Given the description of an element on the screen output the (x, y) to click on. 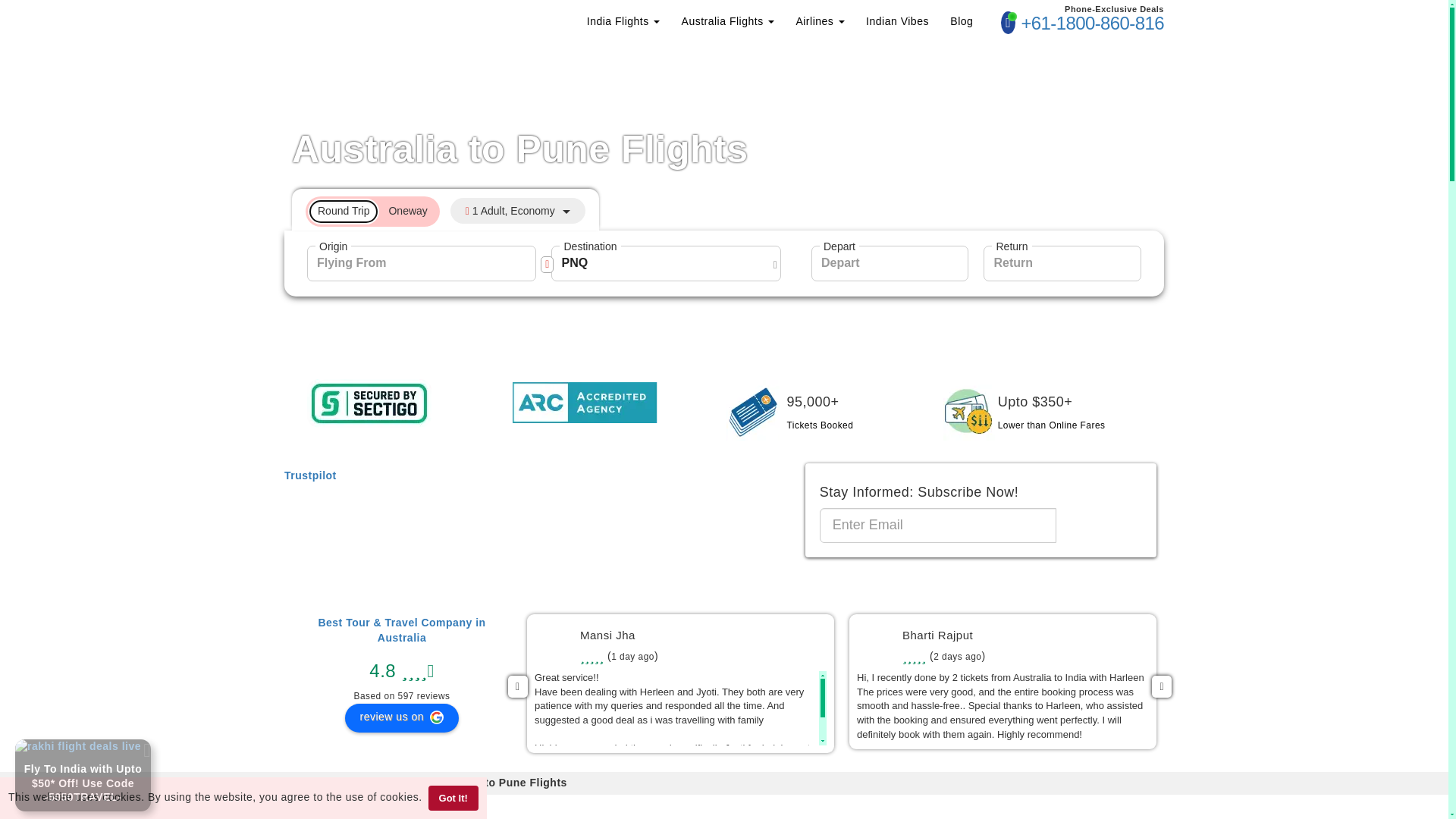
1 (392, 212)
PNQ (664, 263)
Airlines (819, 20)
Australia Flights (727, 20)
India Flights (622, 20)
2 (322, 212)
